Given the description of an element on the screen output the (x, y) to click on. 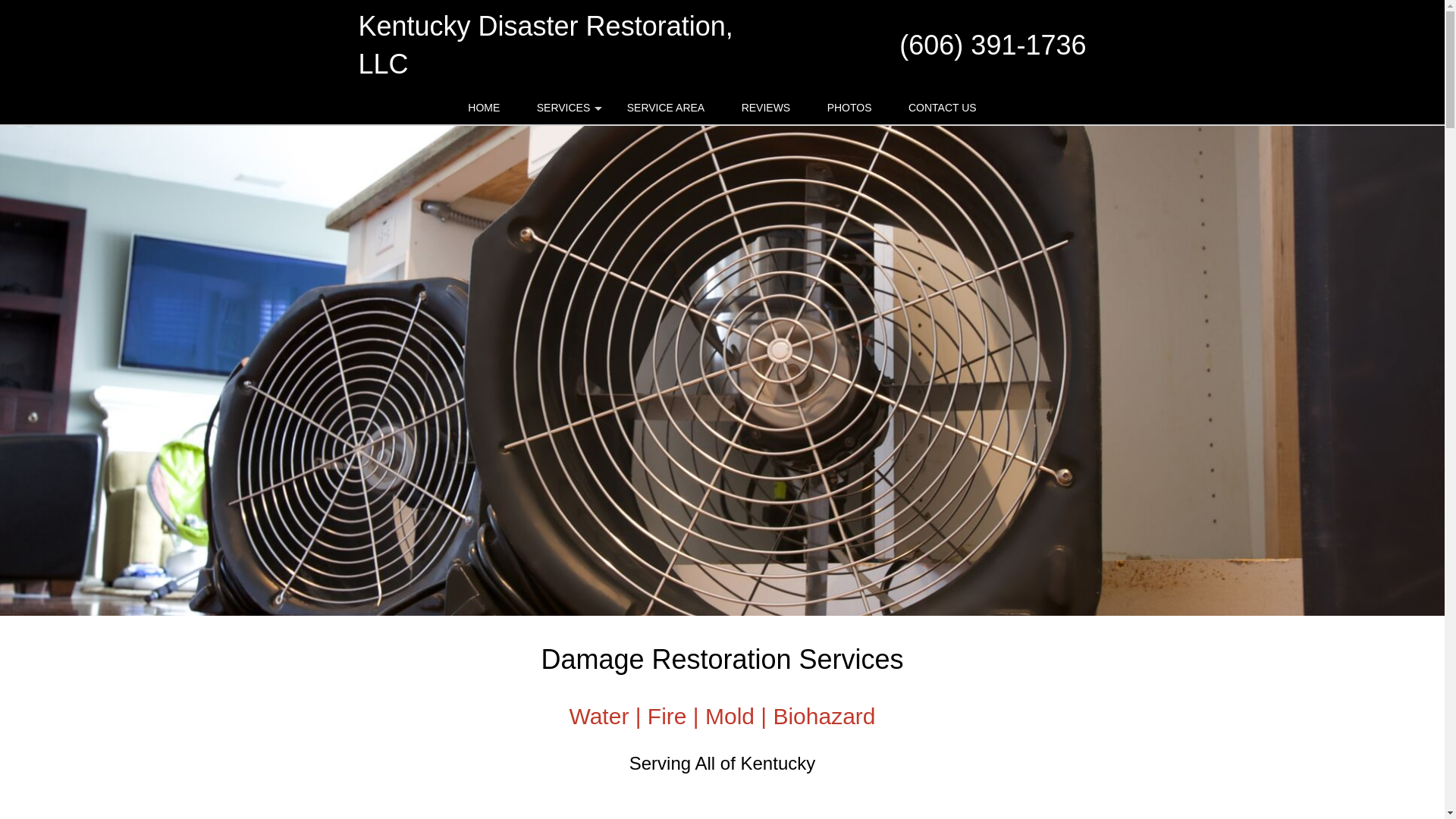
REVIEWS Element type: text (765, 107)
PHOTOS Element type: text (849, 107)
SERVICE AREA Element type: text (665, 107)
CONTACT US Element type: text (942, 107)
+
SERVICES Element type: text (563, 107)
HOME Element type: text (483, 107)
(606) 391-1736 Element type: text (992, 45)
